Given the description of an element on the screen output the (x, y) to click on. 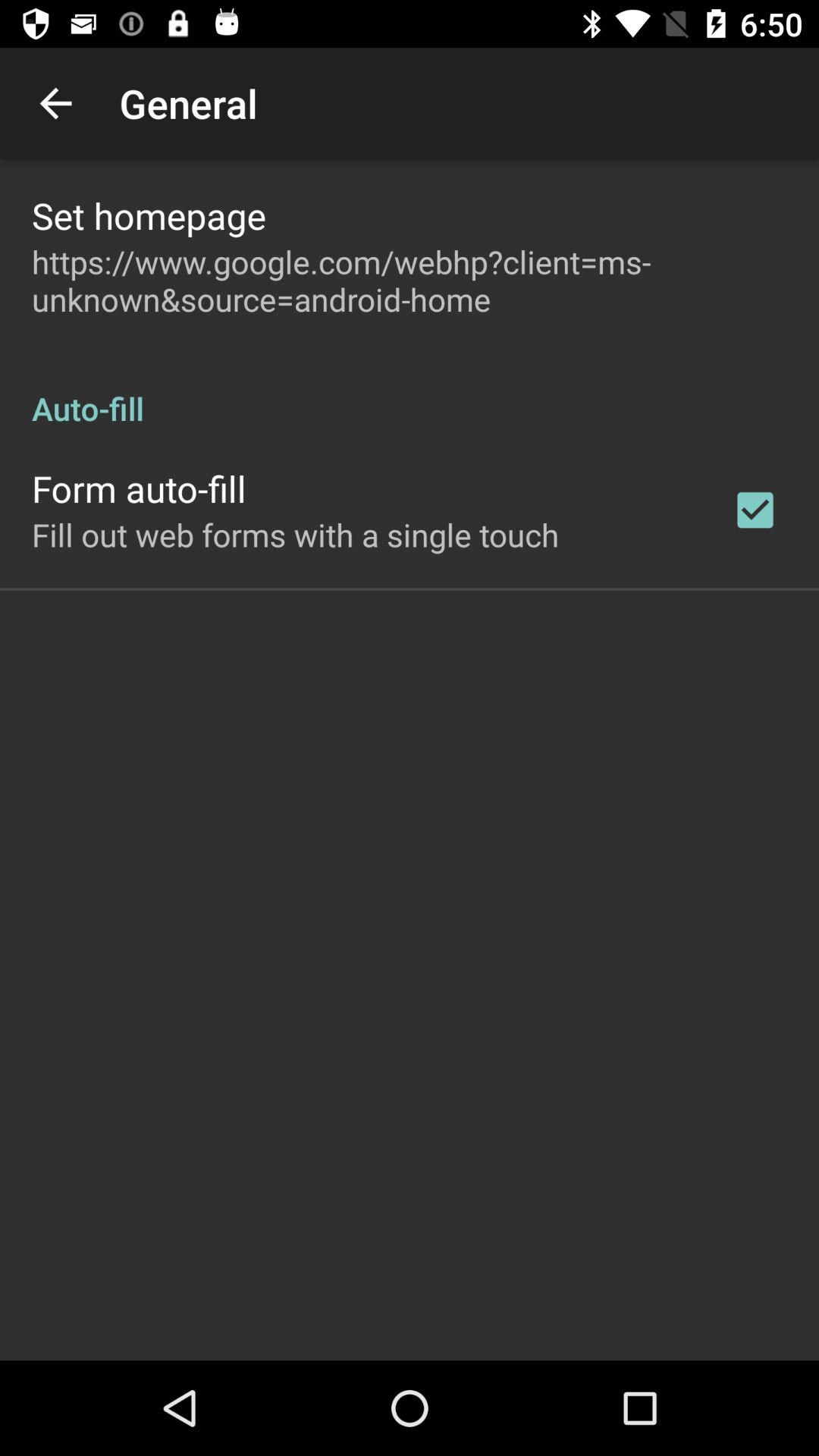
tap app above the set homepage (55, 103)
